Given the description of an element on the screen output the (x, y) to click on. 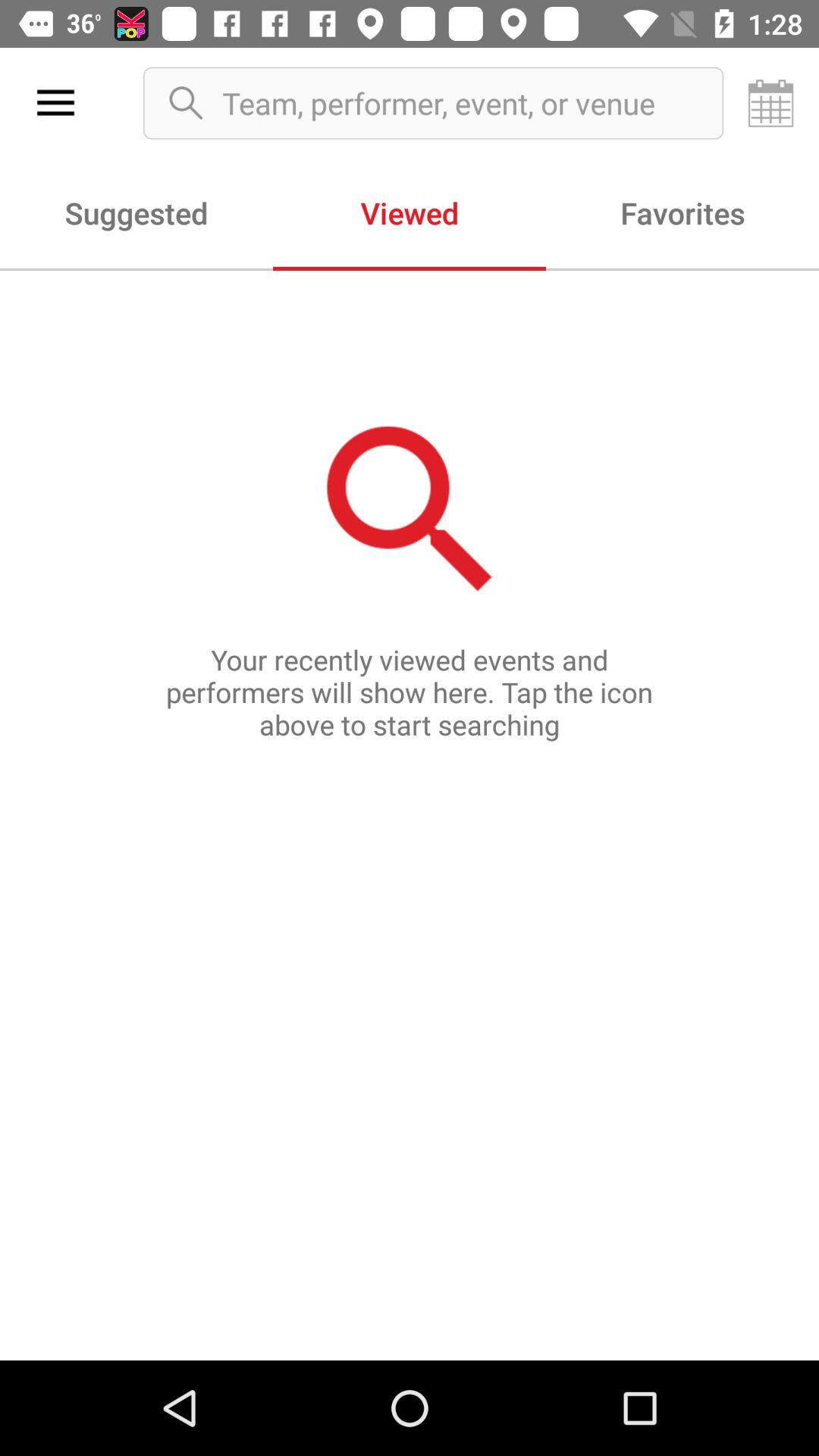
turn off the icon below suggested (409, 815)
